Given the description of an element on the screen output the (x, y) to click on. 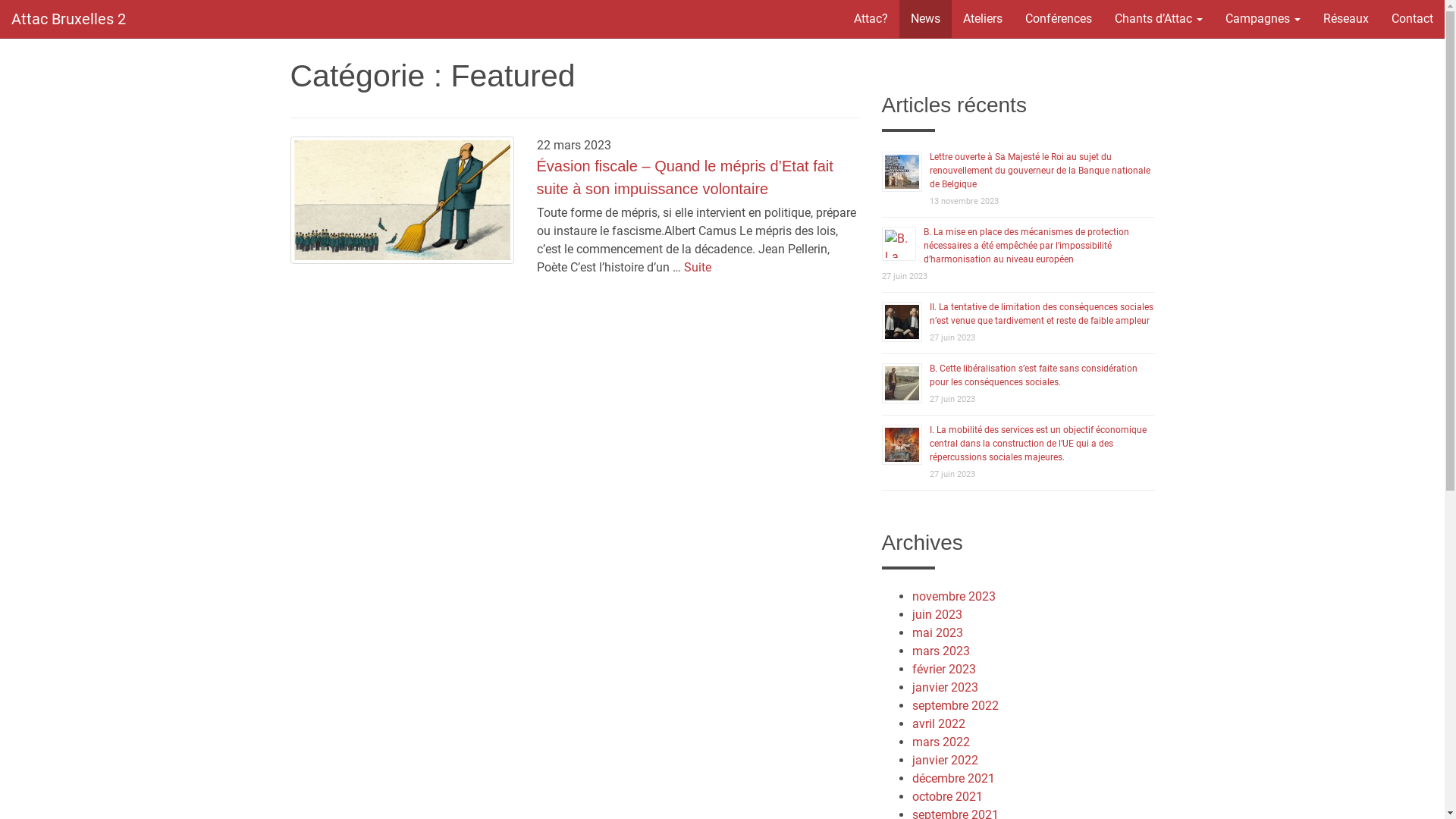
Ateliers Element type: text (982, 18)
Attac? Element type: text (870, 18)
septembre 2022 Element type: text (954, 705)
octobre 2021 Element type: text (946, 796)
avril 2022 Element type: text (937, 723)
mars 2023 Element type: text (940, 650)
Contact Element type: text (1412, 18)
Campagnes Element type: text (1262, 18)
News Element type: text (925, 18)
mars 2022 Element type: text (940, 741)
juin 2023 Element type: text (936, 614)
janvier 2022 Element type: text (944, 760)
Attac Bruxelles 2 Element type: text (68, 18)
mai 2023 Element type: text (936, 632)
novembre 2023 Element type: text (952, 596)
Suite Element type: text (697, 266)
janvier 2023 Element type: text (944, 687)
